Given the description of an element on the screen output the (x, y) to click on. 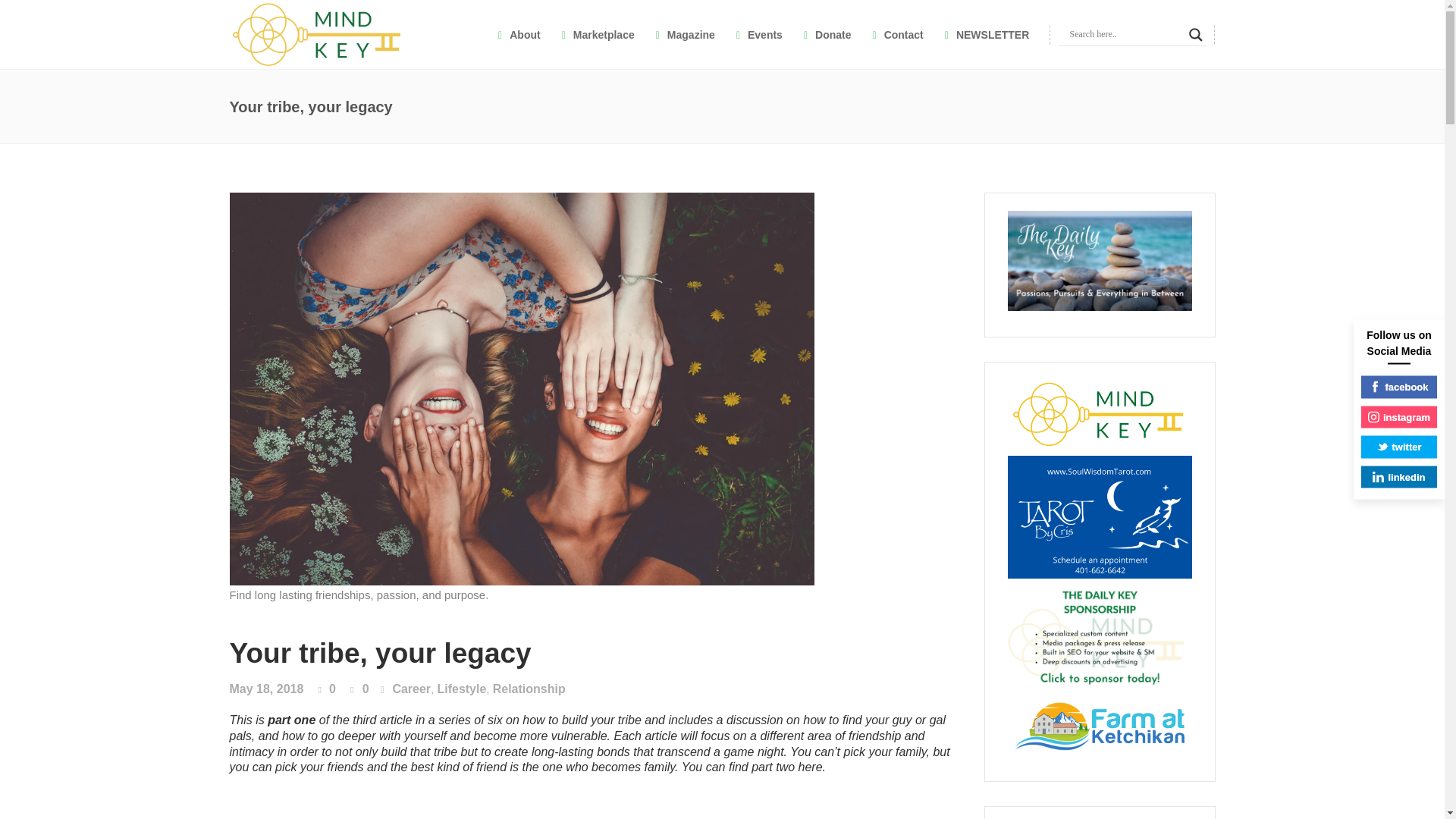
Events (759, 34)
NEWSLETTER (987, 34)
Donate (827, 34)
About (519, 34)
Contact (897, 34)
Your tribe, your legacy (379, 653)
Magazine (685, 34)
Marketplace (598, 34)
Like this (327, 689)
